Given the description of an element on the screen output the (x, y) to click on. 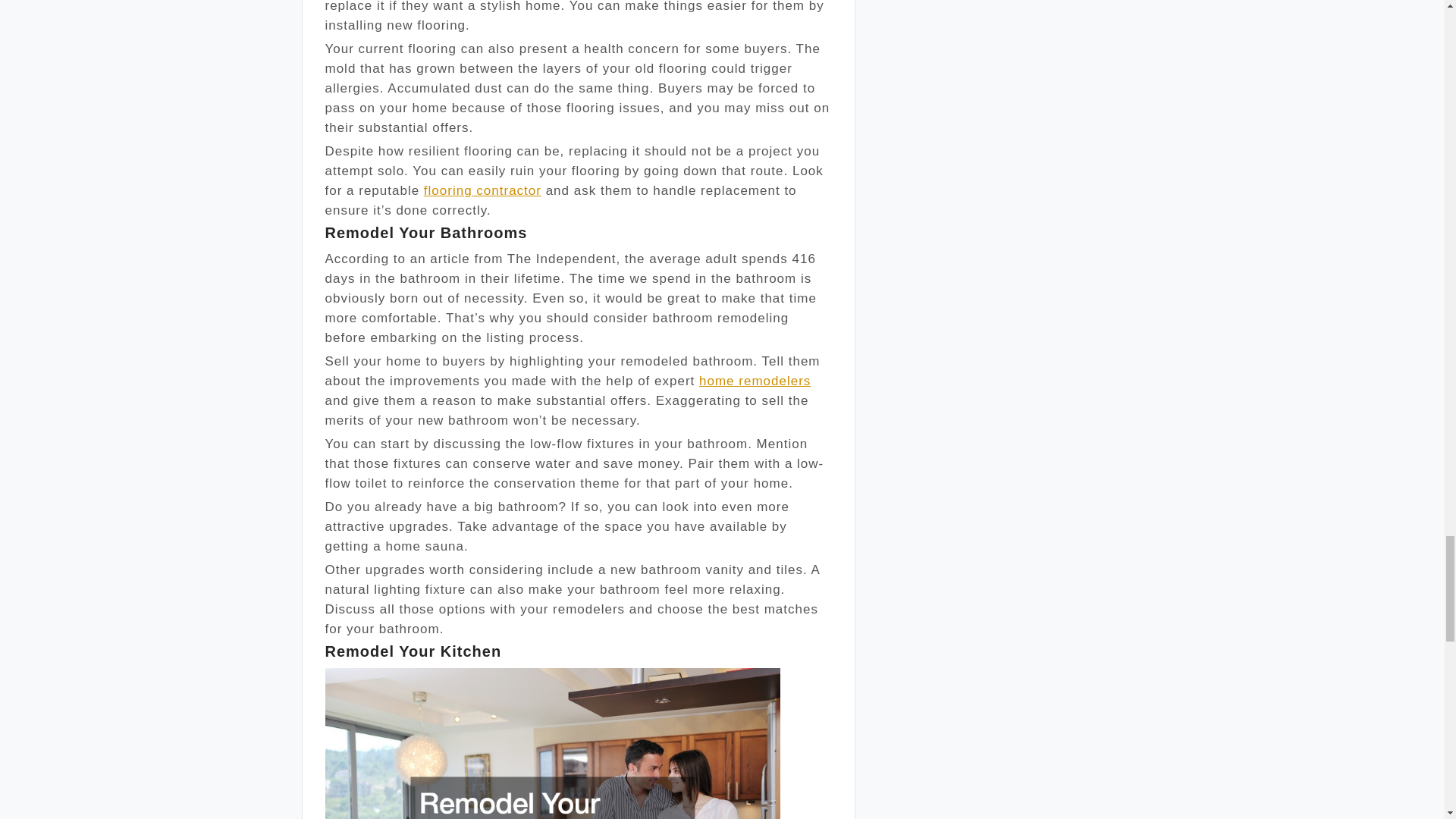
flooring contractor (482, 190)
home remodelers (754, 380)
